Given the description of an element on the screen output the (x, y) to click on. 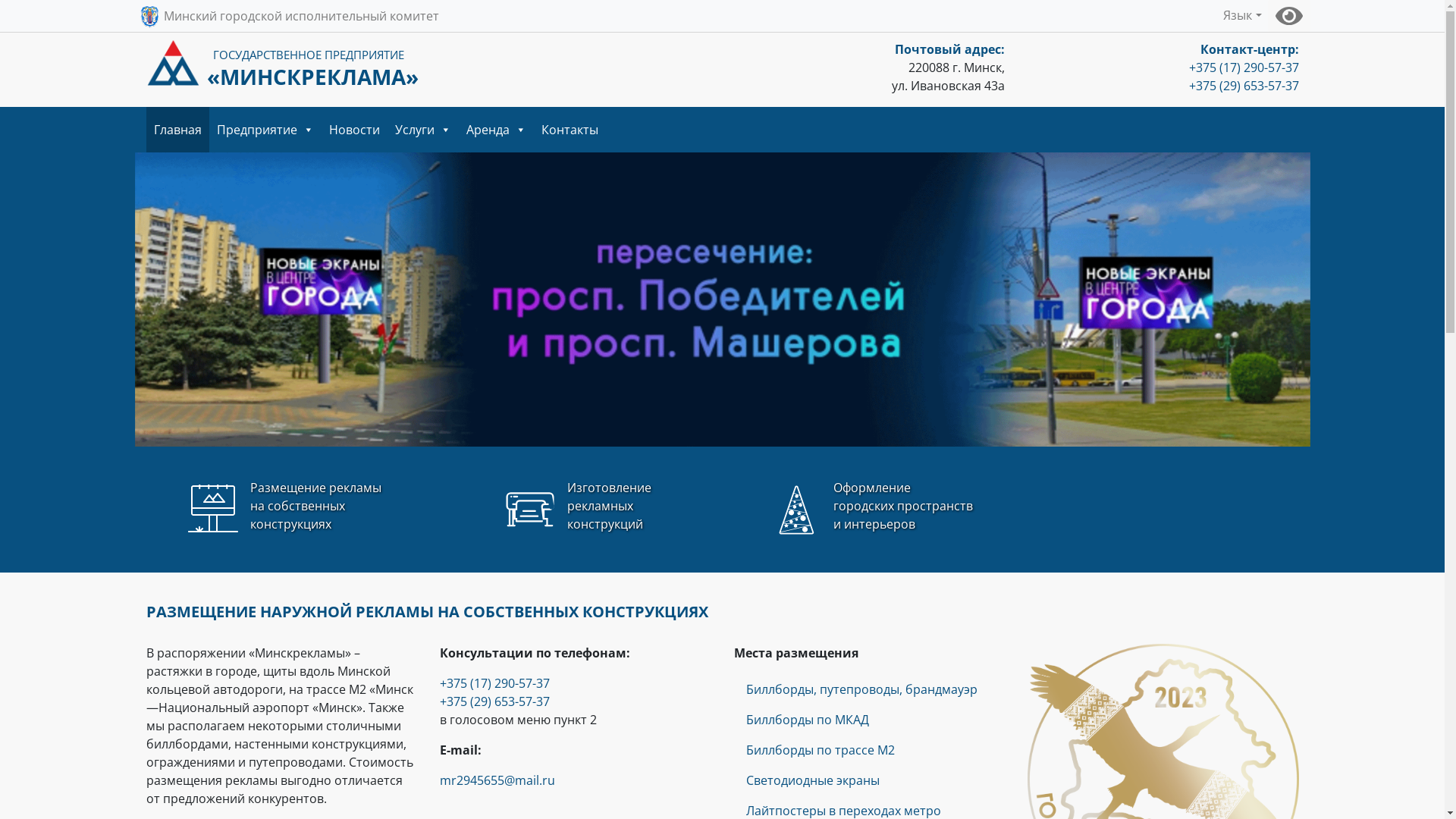
+375 (17) 290-57-37 Element type: text (494, 682)
mr2945655@mail.ru Element type: text (497, 779)
+375 (29) 653-57-37 Element type: text (1244, 85)
+375 (17) 290-57-37 Element type: text (1244, 67)
+375 (29) 653-57-37 Element type: text (494, 701)
